Given the description of an element on the screen output the (x, y) to click on. 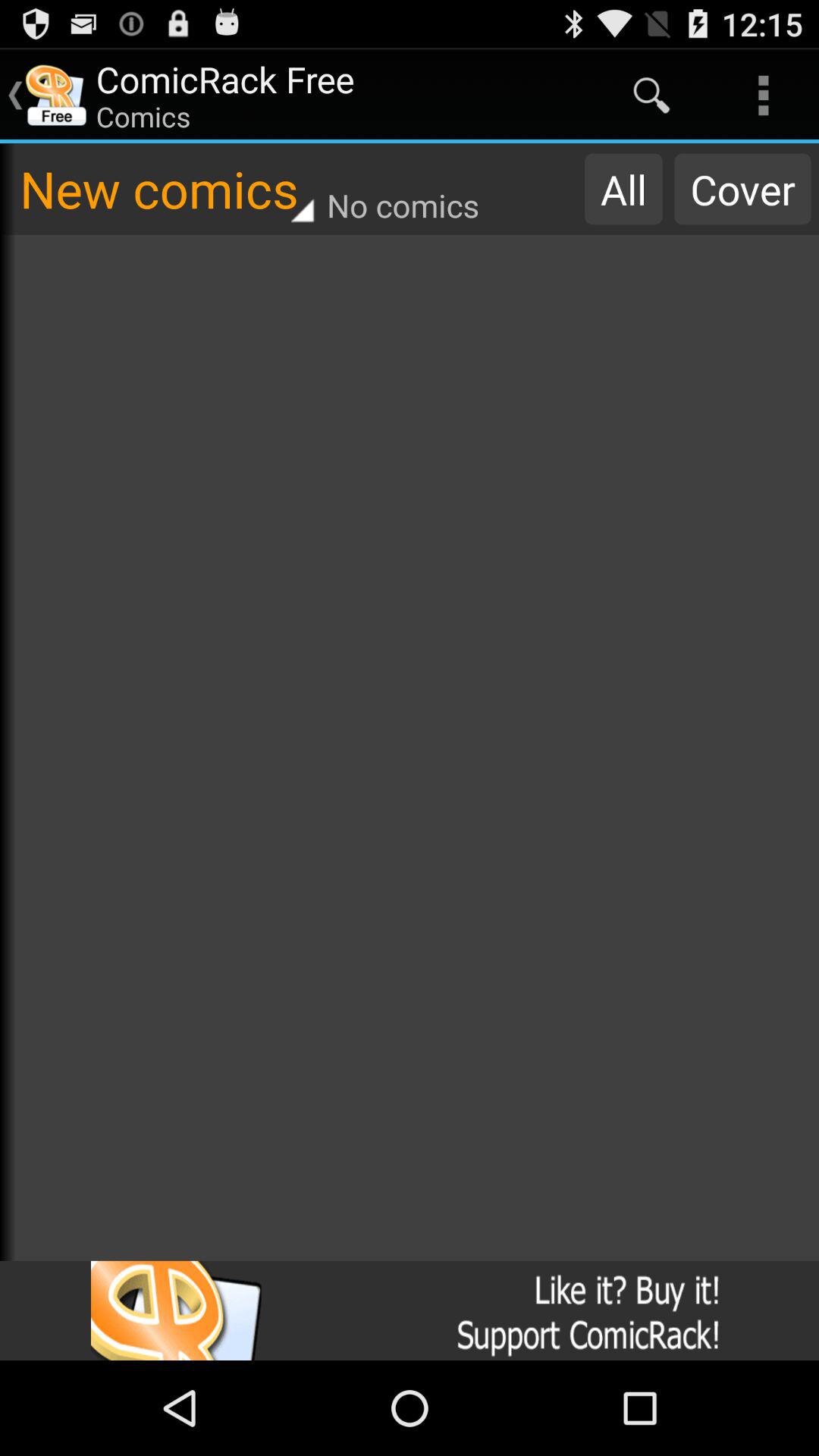
click the icon above cover item (763, 95)
